Given the description of an element on the screen output the (x, y) to click on. 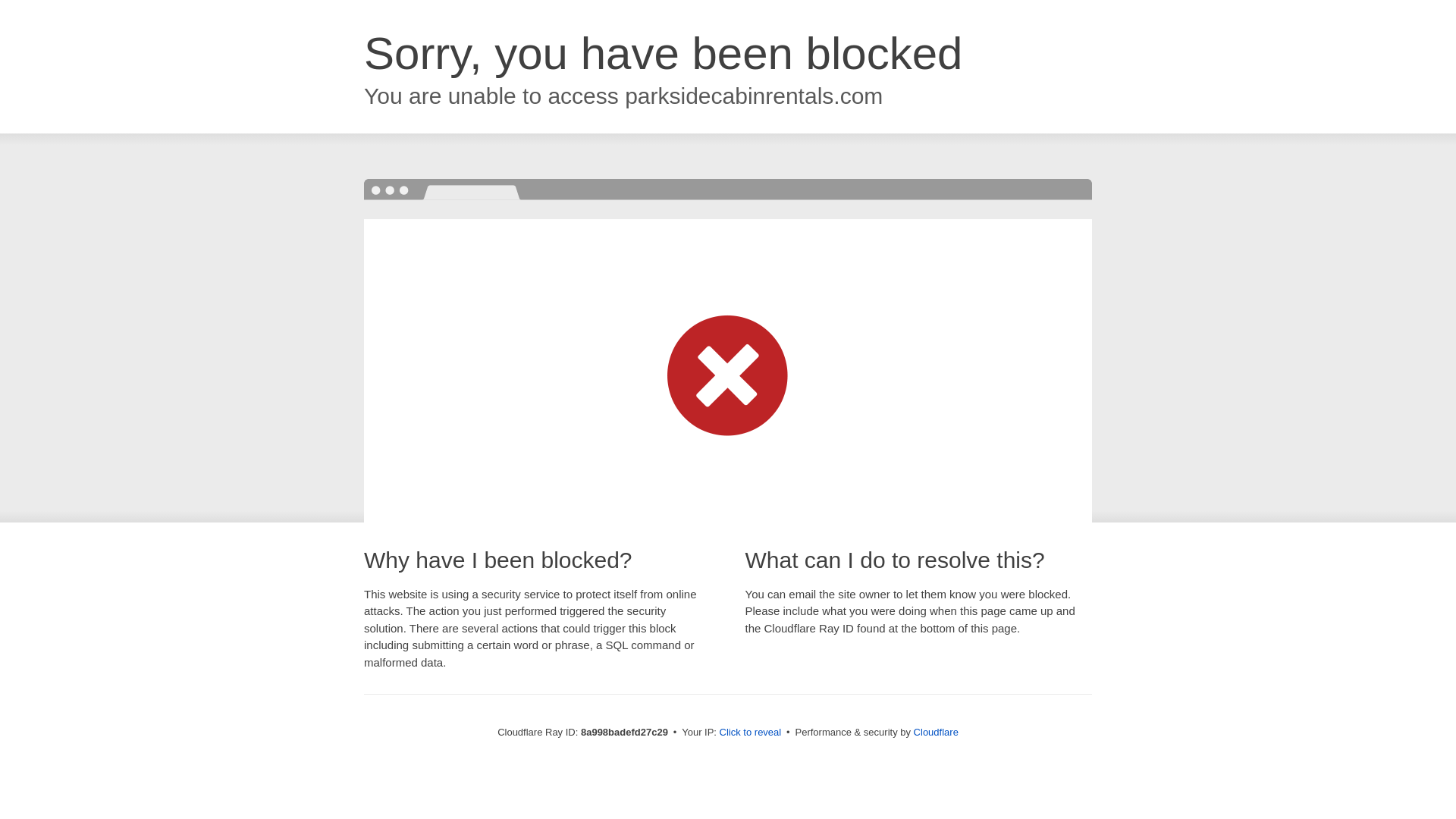
Click to reveal (750, 732)
Cloudflare (936, 731)
